Given the description of an element on the screen output the (x, y) to click on. 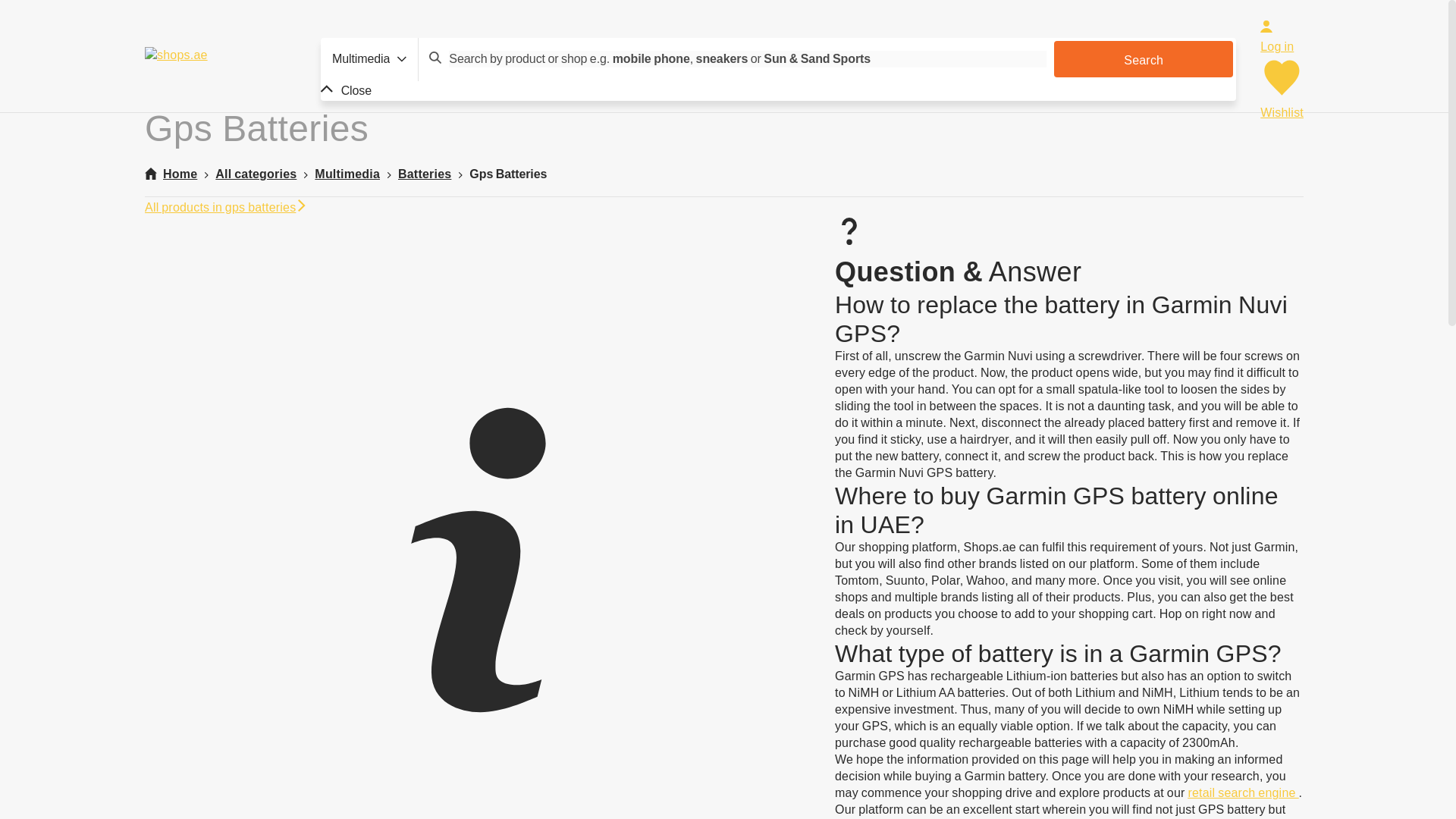
All products in gps batteries (225, 206)
Search (1143, 58)
Batteries (424, 173)
Log in (1281, 61)
shops.ae (220, 69)
Wishlist (1281, 104)
Multimedia (347, 173)
Home (170, 173)
All categories (256, 173)
retail search engine (1243, 792)
